Given the description of an element on the screen output the (x, y) to click on. 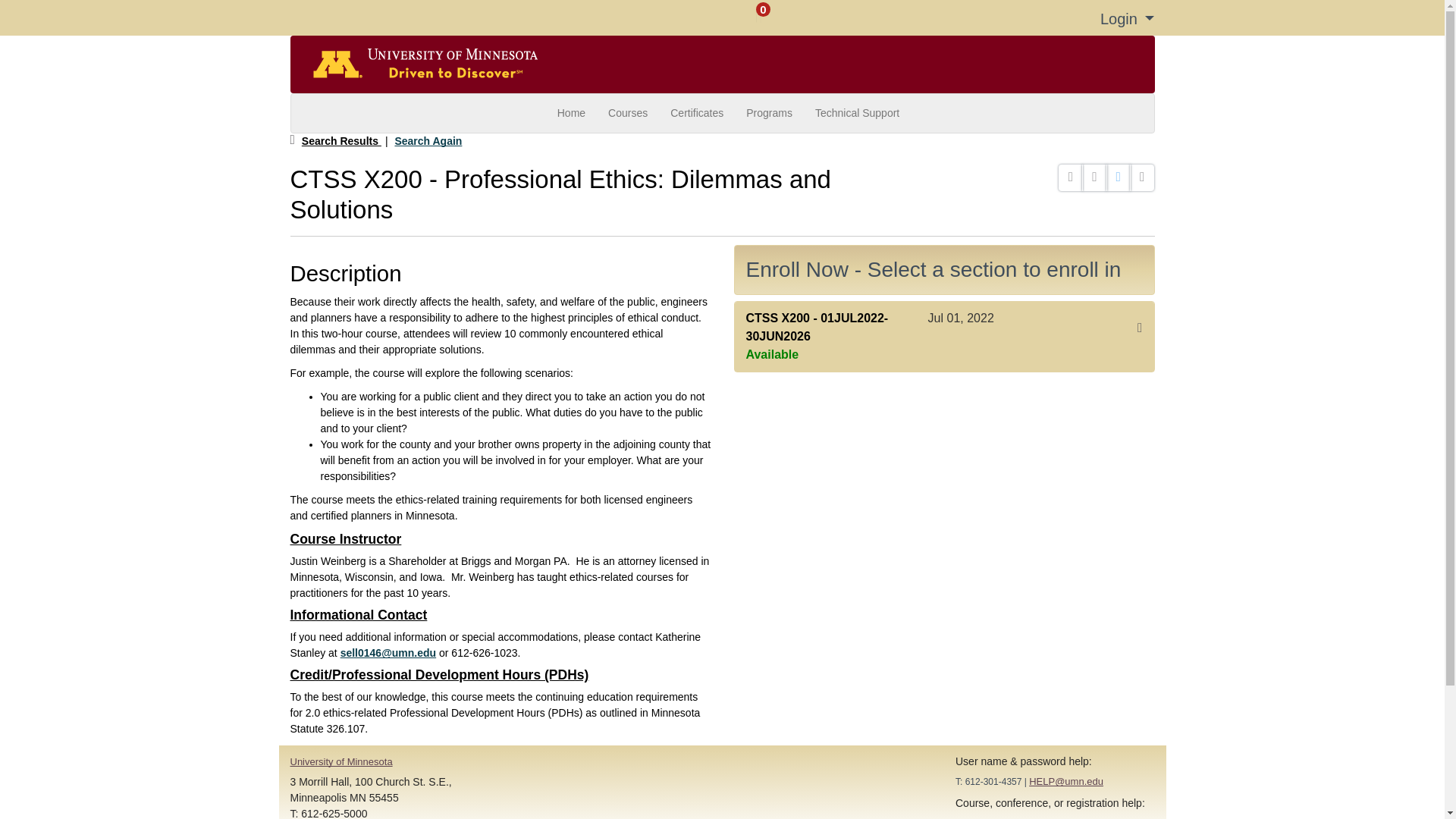
Search Results (341, 140)
Courses (627, 113)
Remind me of this course at a later date (1093, 177)
Technical Support (857, 113)
Certificates (697, 113)
Email this information to yourself or a friend (1070, 177)
University of Minnesota (340, 761)
Programs (769, 113)
Print Version (1141, 177)
your Program (1019, 818)
